Given the description of an element on the screen output the (x, y) to click on. 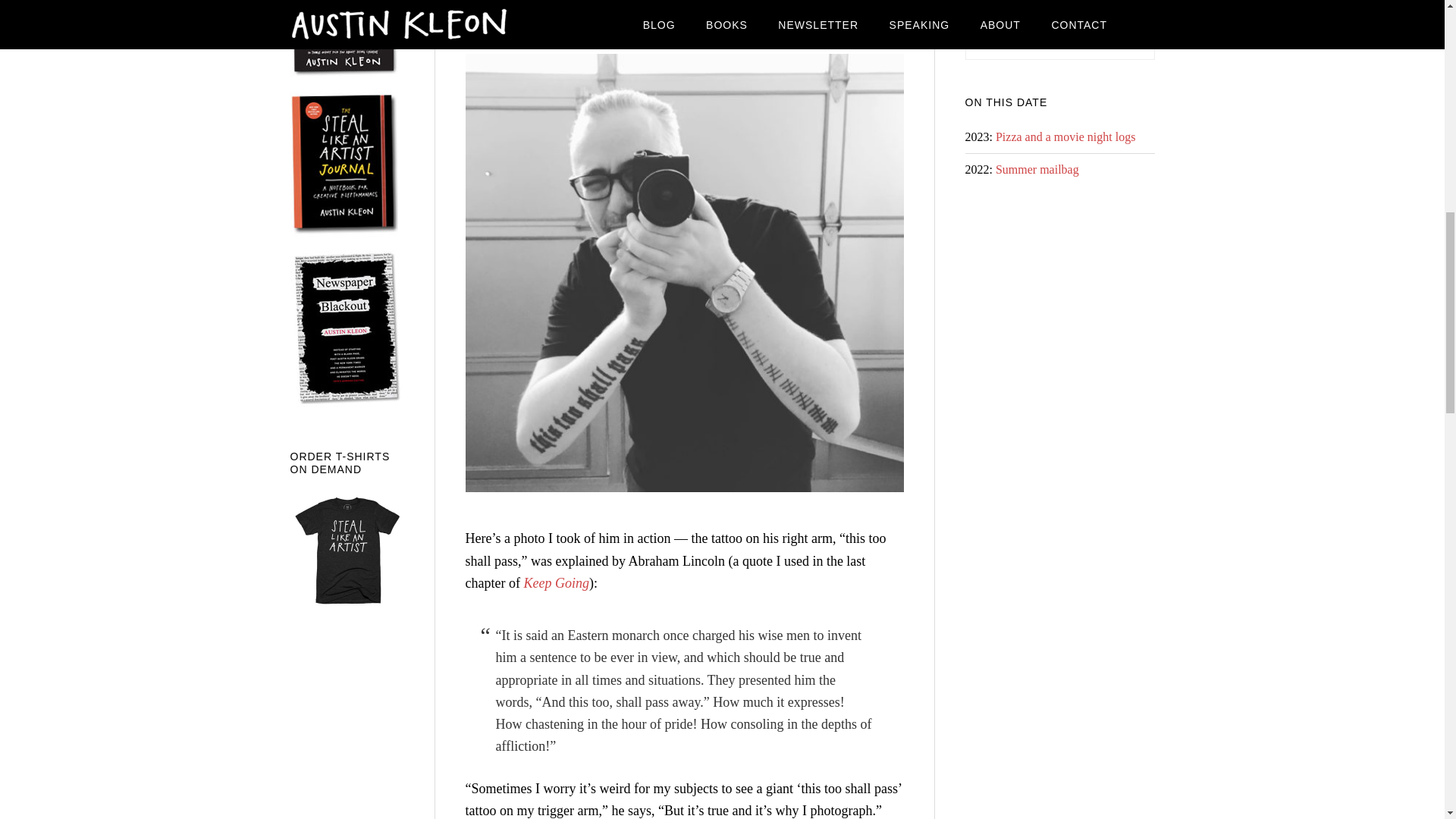
Pizza and a movie night logs (1065, 136)
Summer mailbag (1036, 169)
Every stinking bum should wear a crown (611, 22)
ON THIS DATE (1004, 102)
Keep Going (555, 582)
